Given the description of an element on the screen output the (x, y) to click on. 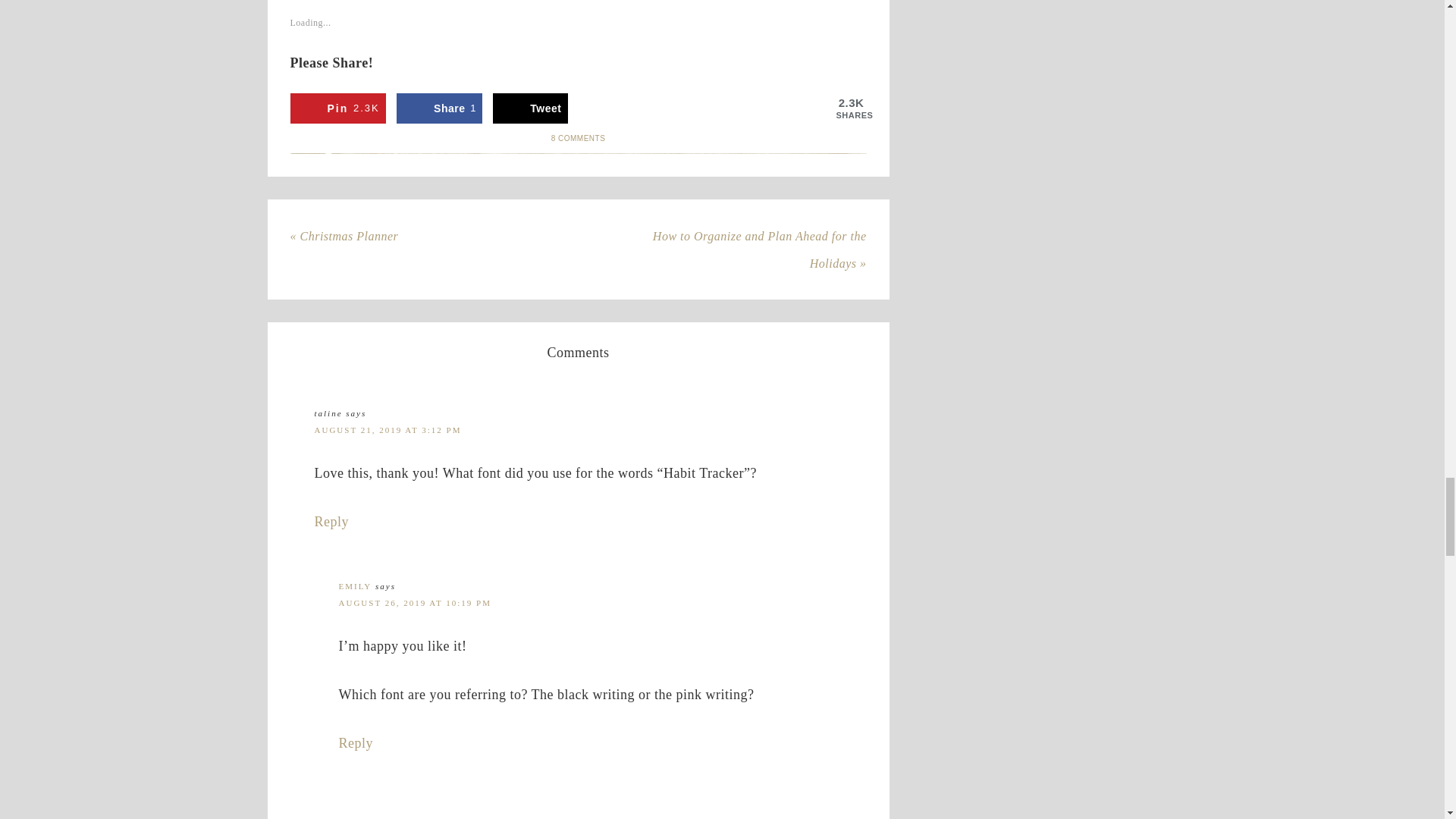
Save to Pinterest (337, 108)
Share on X (530, 108)
Share on Facebook (438, 108)
